Given the description of an element on the screen output the (x, y) to click on. 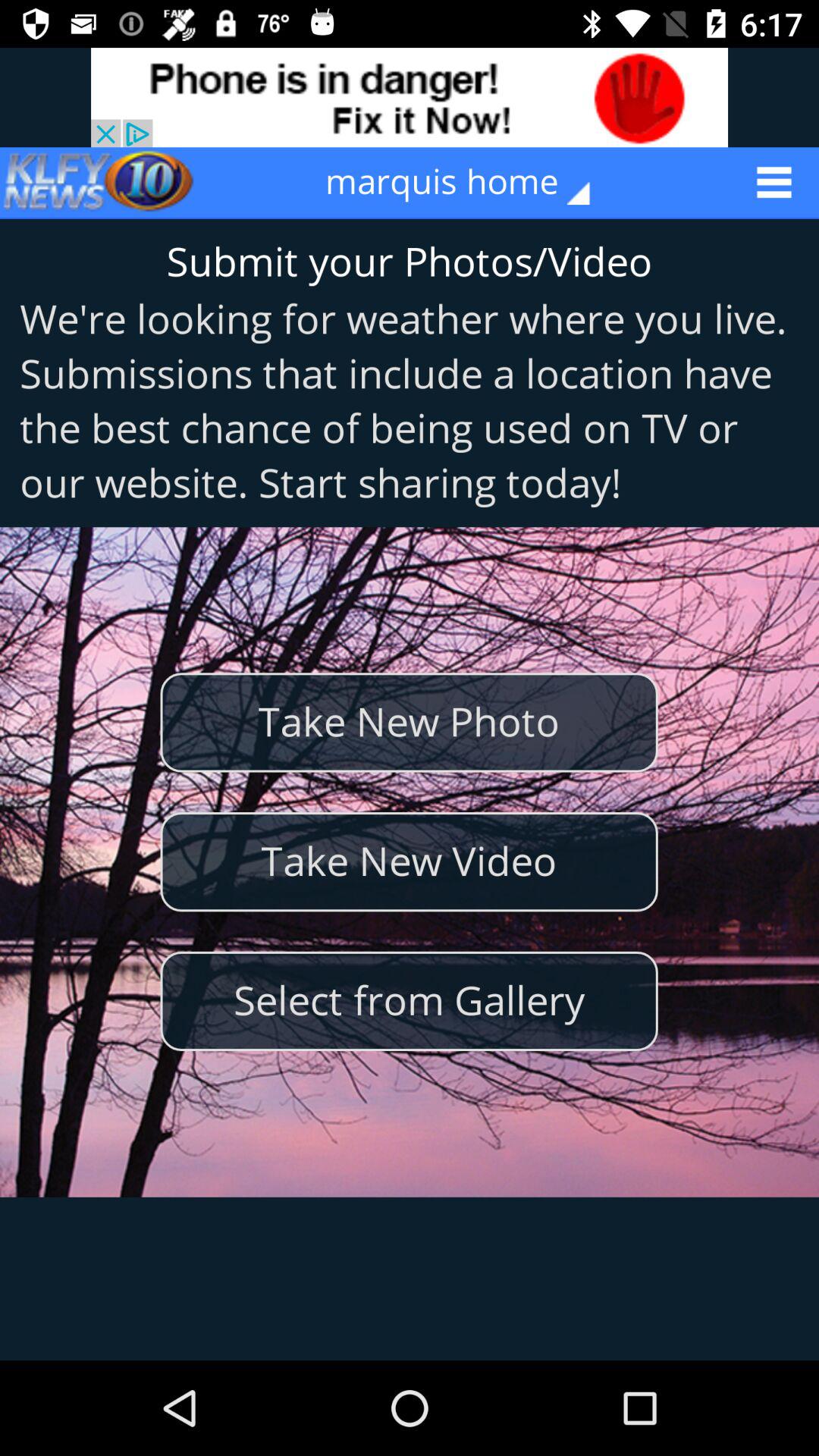
jump to the marquis home item (468, 182)
